Given the description of an element on the screen output the (x, y) to click on. 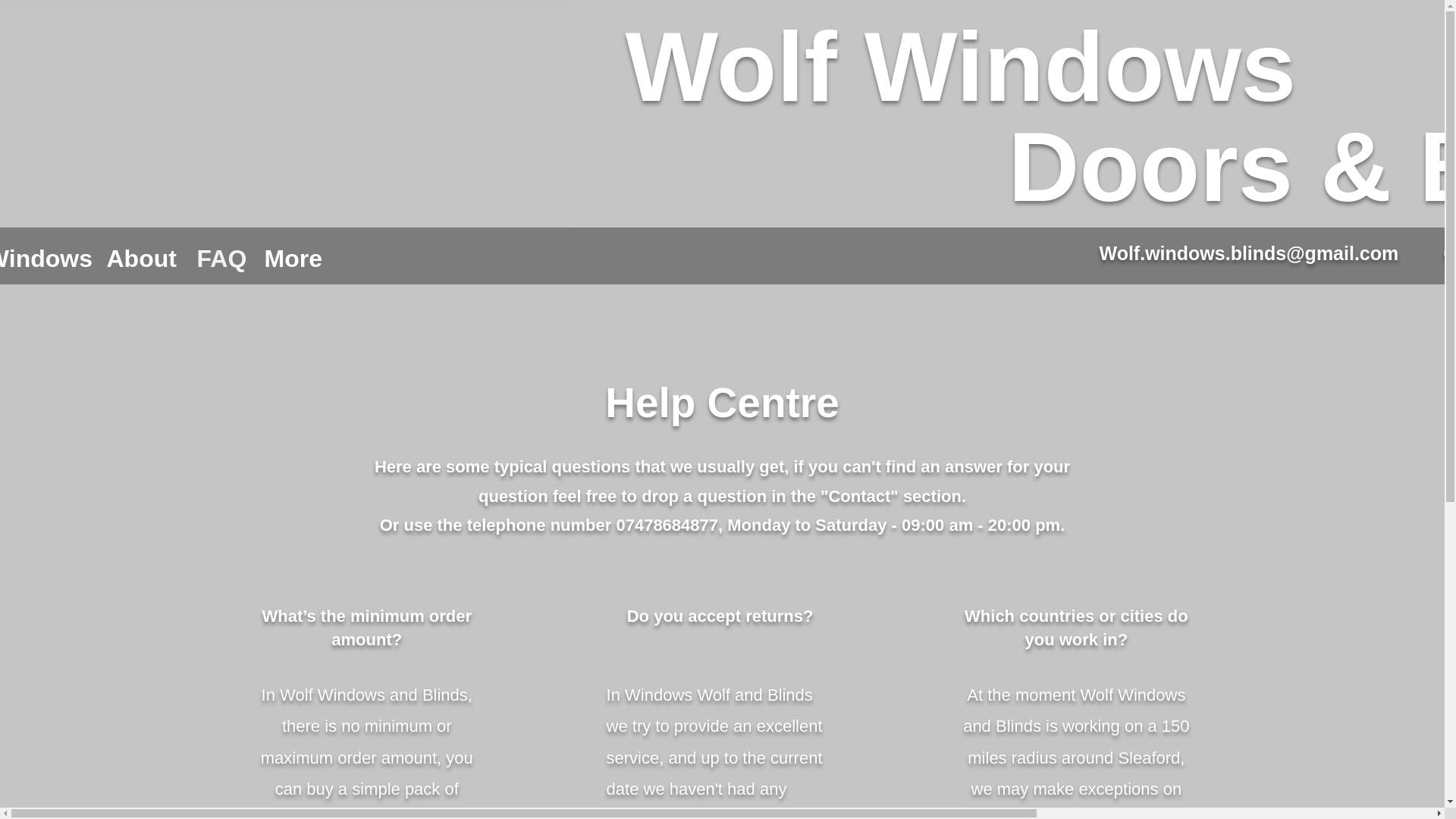
About (141, 258)
Wolf Windows (959, 66)
FAQ (217, 258)
